Given the description of an element on the screen output the (x, y) to click on. 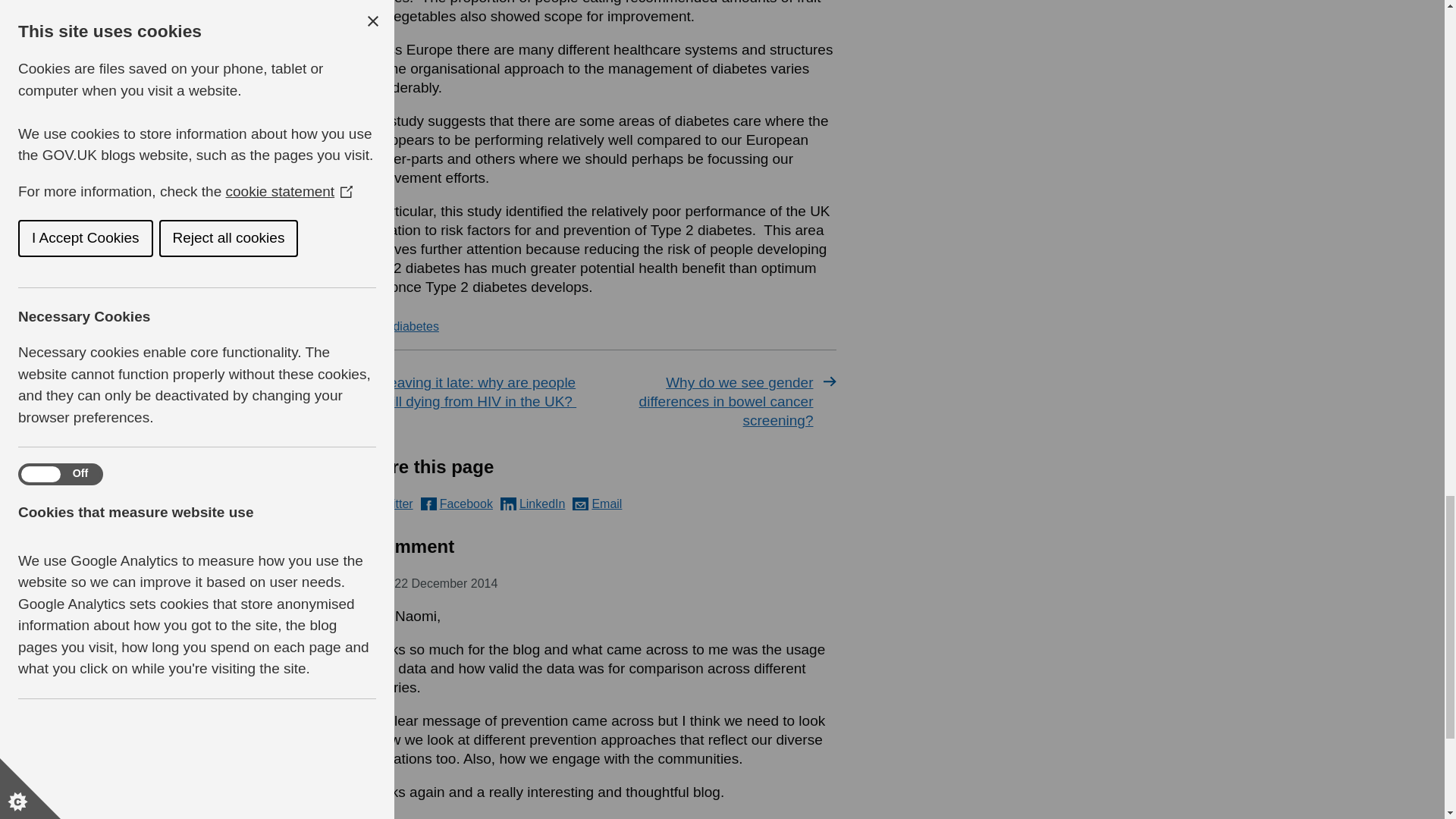
diabetes (416, 326)
Email (596, 503)
Facebook (456, 503)
Why do we see gender differences in bowel cancer screening? (718, 401)
Twitter (385, 503)
LinkedIn (533, 503)
